Given the description of an element on the screen output the (x, y) to click on. 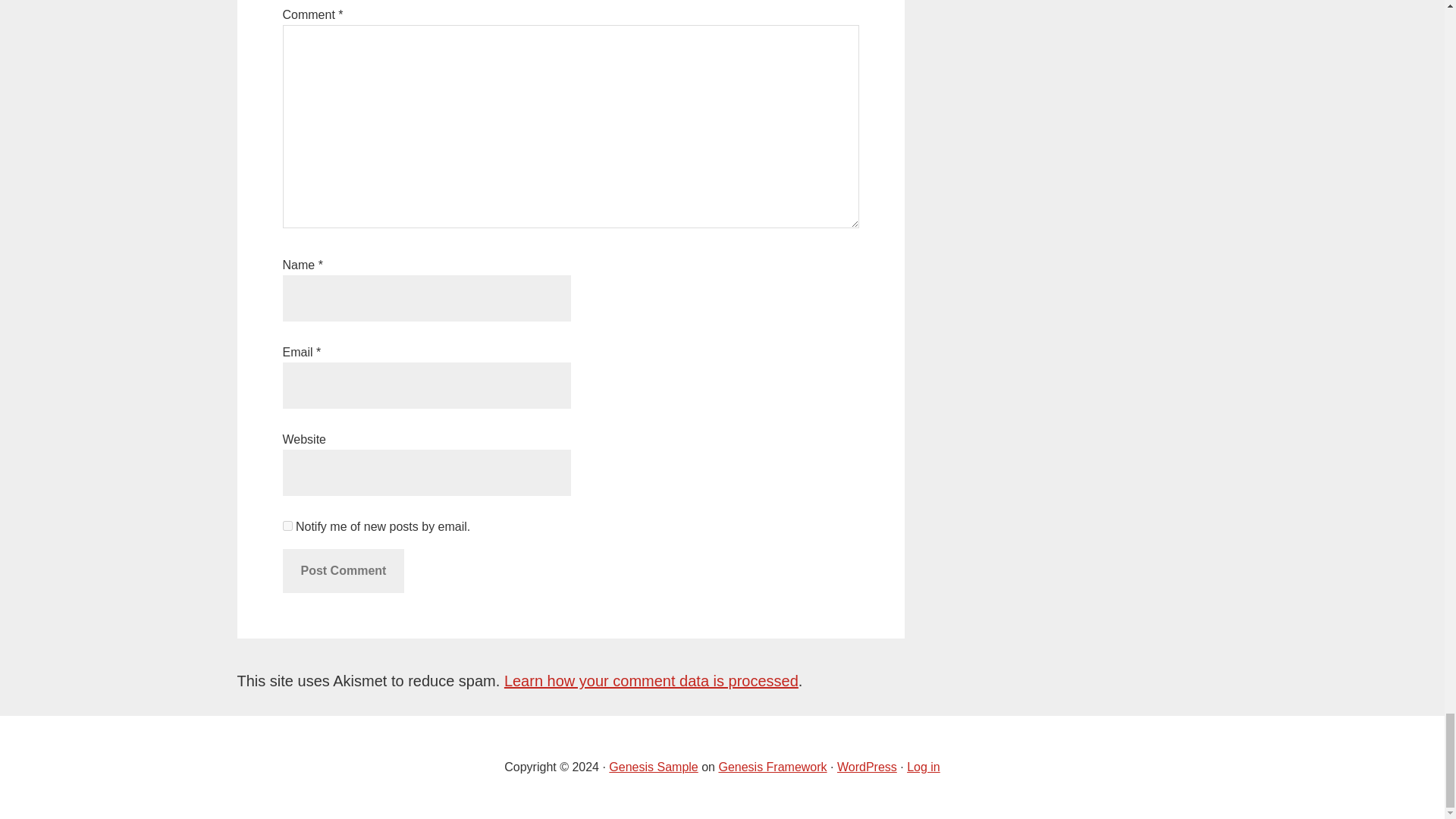
Post Comment (343, 570)
subscribe (287, 525)
